Given the description of an element on the screen output the (x, y) to click on. 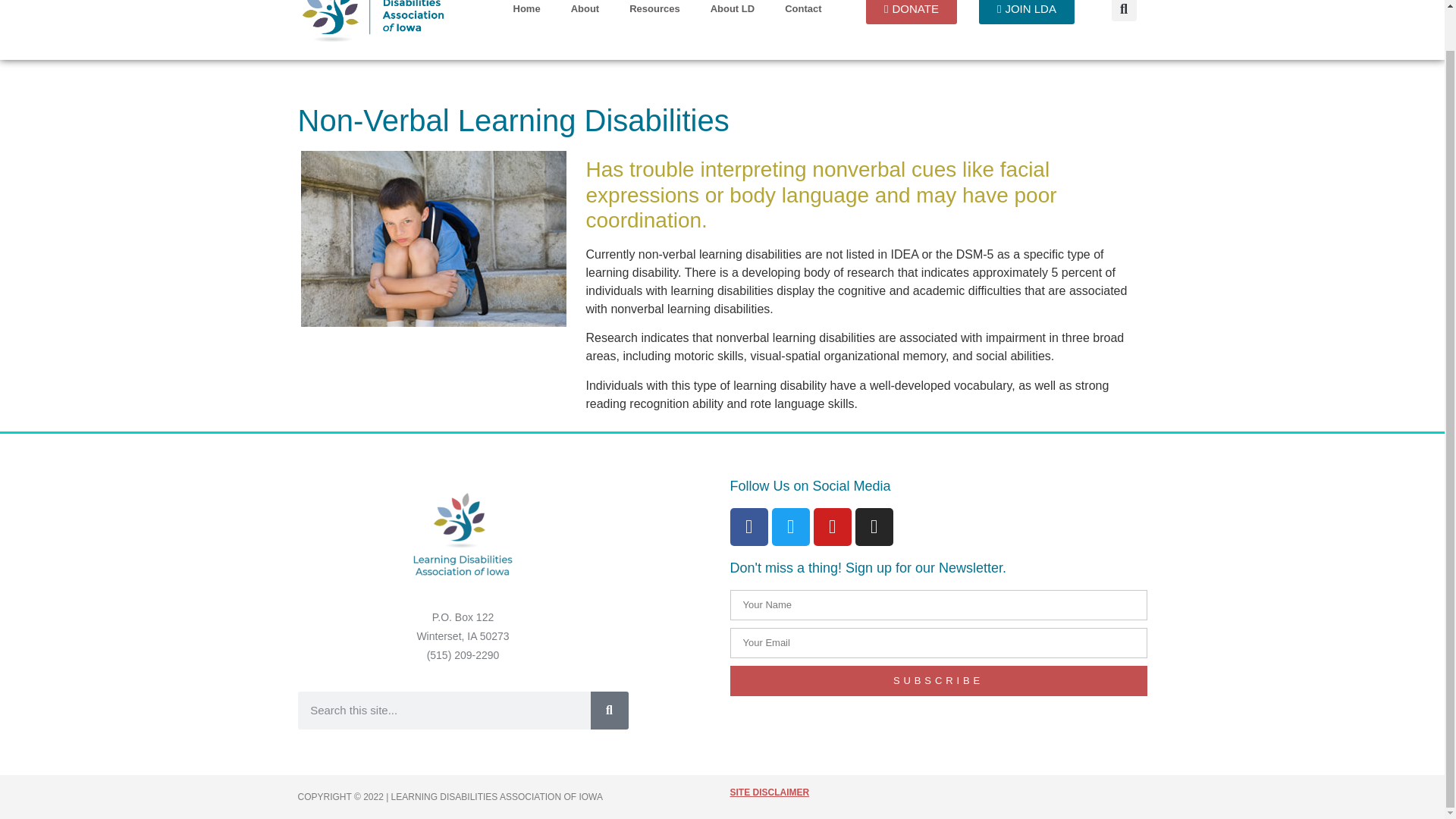
About (585, 12)
Home (525, 12)
Resources (654, 12)
About LD (732, 12)
Contact (802, 12)
